Given the description of an element on the screen output the (x, y) to click on. 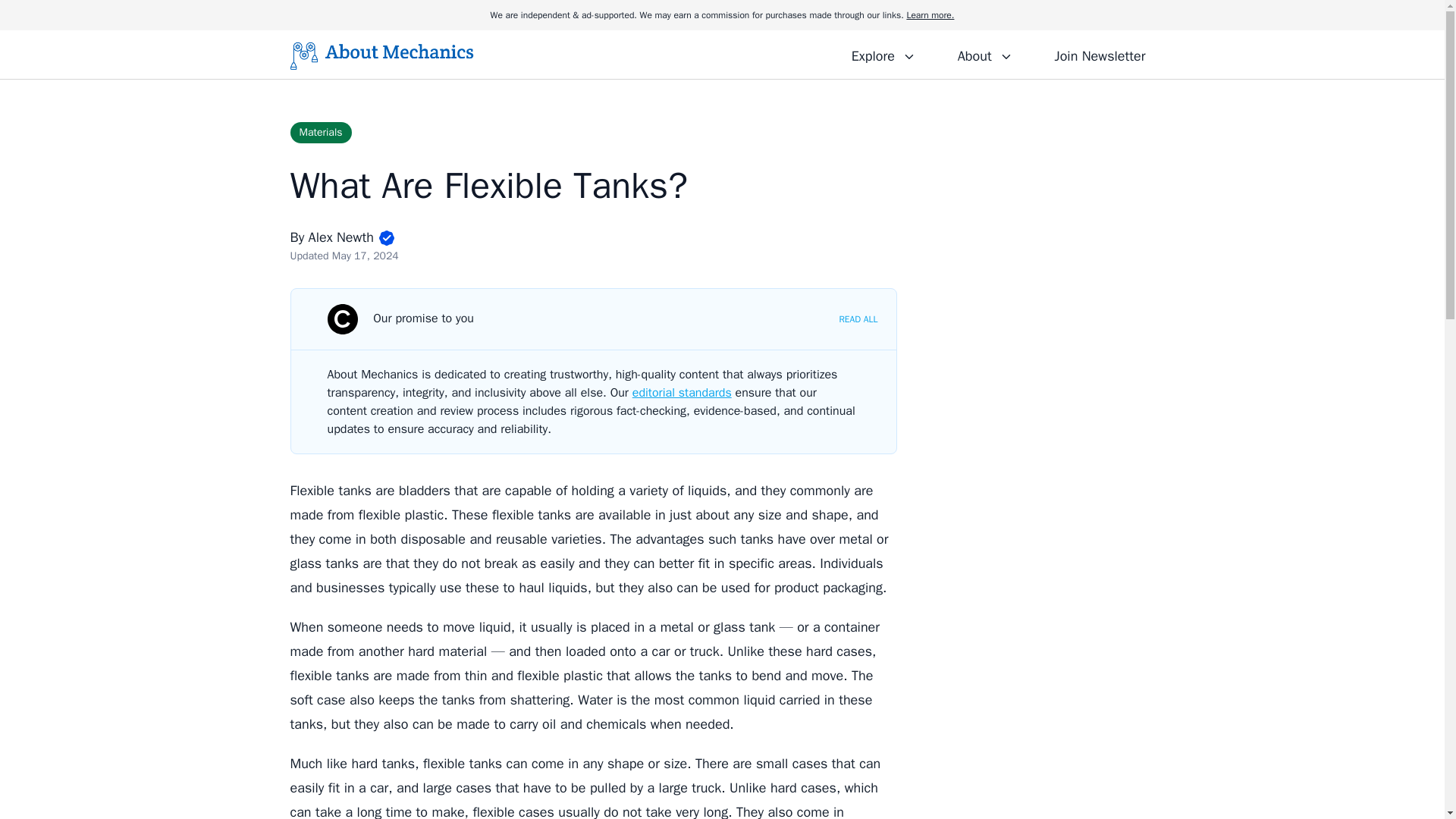
About (984, 54)
Learn more. (929, 15)
Join Newsletter (1099, 54)
editorial standards (681, 393)
Materials (319, 132)
Explore (883, 54)
READ ALL (857, 318)
